Given the description of an element on the screen output the (x, y) to click on. 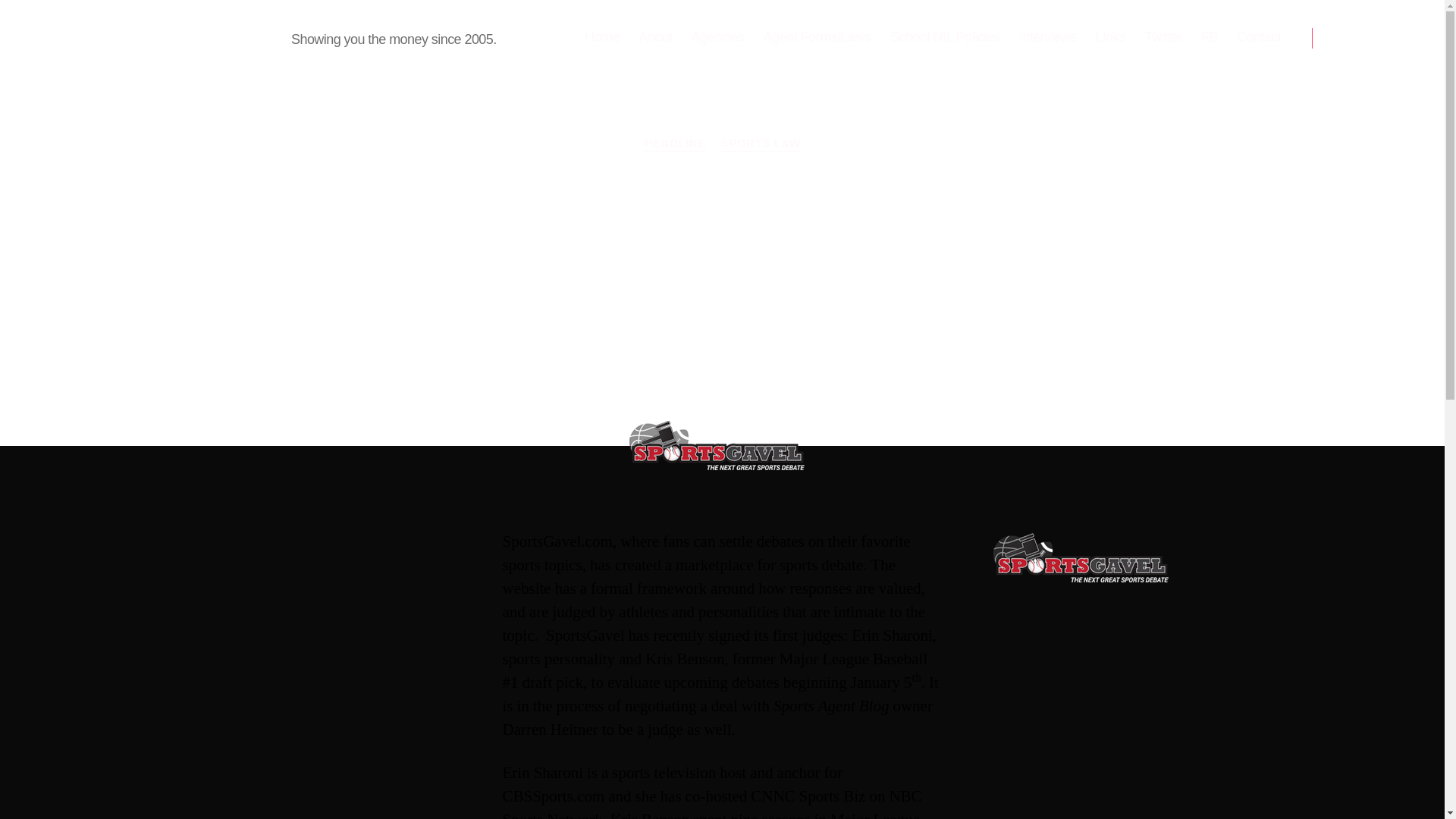
About (655, 37)
Links (1110, 37)
School NIL Policies (944, 37)
December 29, 2014 (805, 350)
SPORTS LAW (760, 143)
Contact (1258, 37)
FB (1209, 37)
Agencies (717, 37)
Interviews (1048, 37)
D'Bria Bradshaw (667, 350)
